Given the description of an element on the screen output the (x, y) to click on. 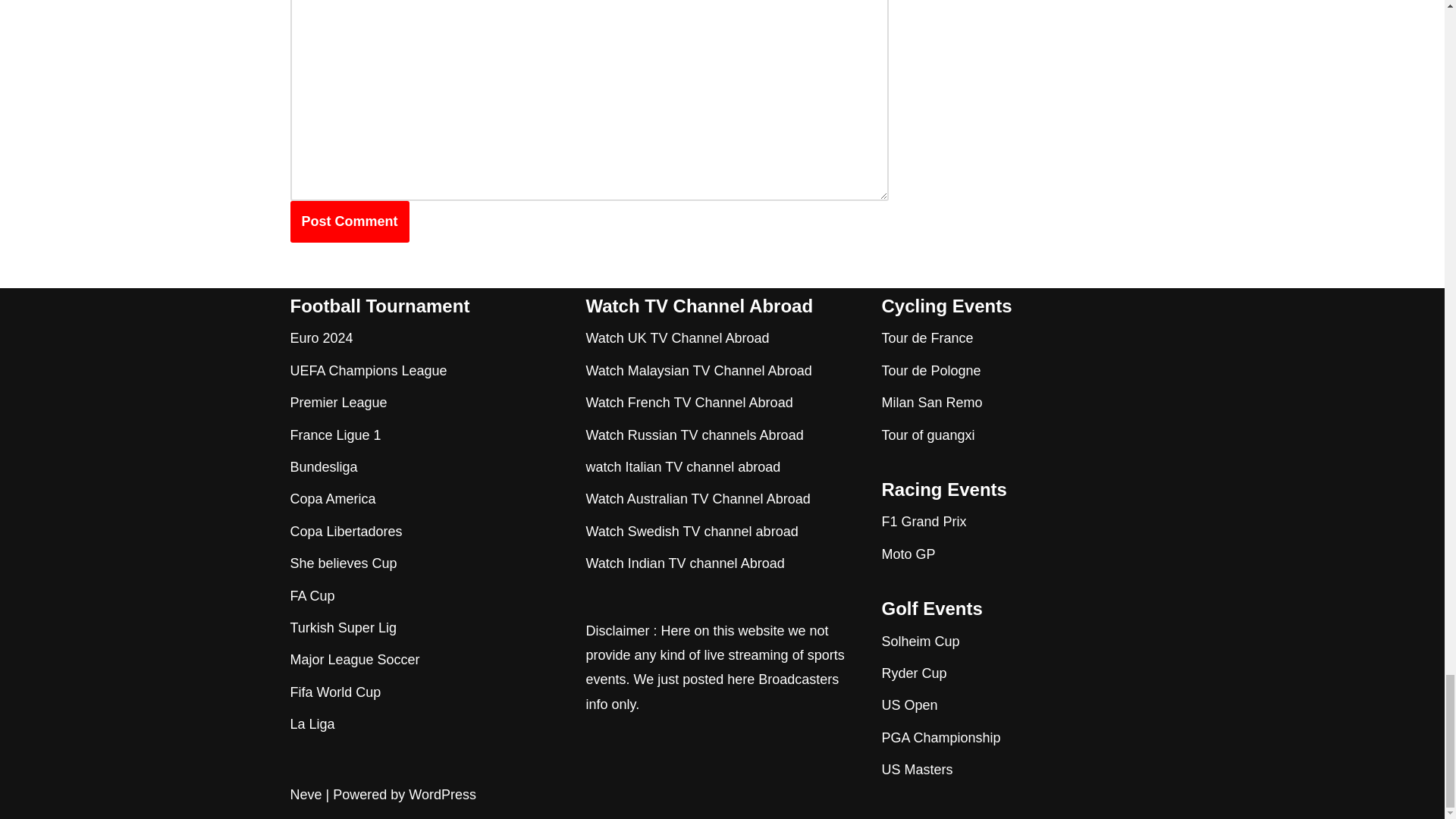
Post Comment (349, 221)
